Given the description of an element on the screen output the (x, y) to click on. 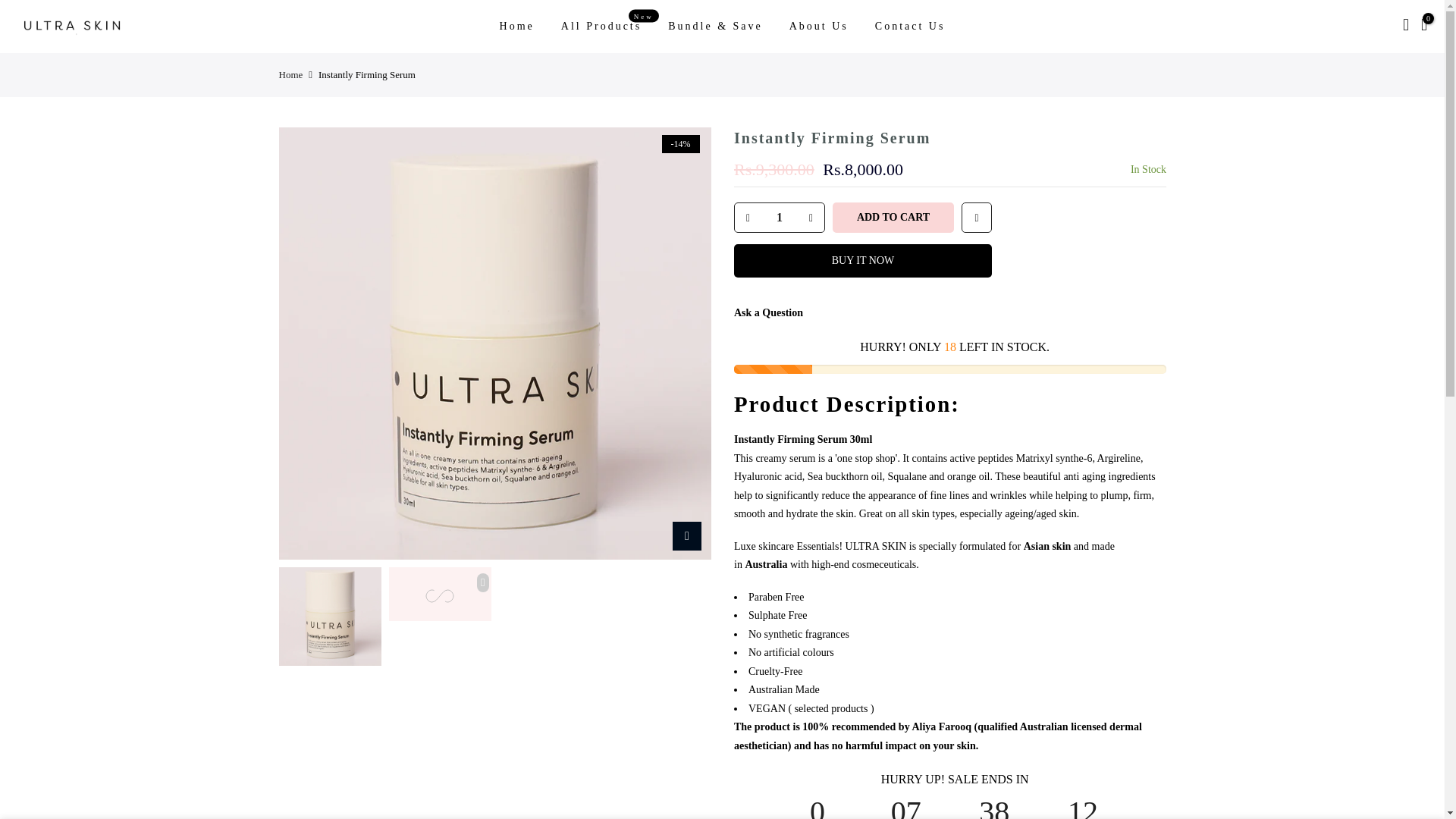
BUY IT NOW (862, 260)
Contact Us (909, 26)
Ask a Question (768, 312)
1 (600, 26)
ADD TO CART (778, 217)
Home (892, 217)
Home (516, 26)
About Us (290, 74)
